Given the description of an element on the screen output the (x, y) to click on. 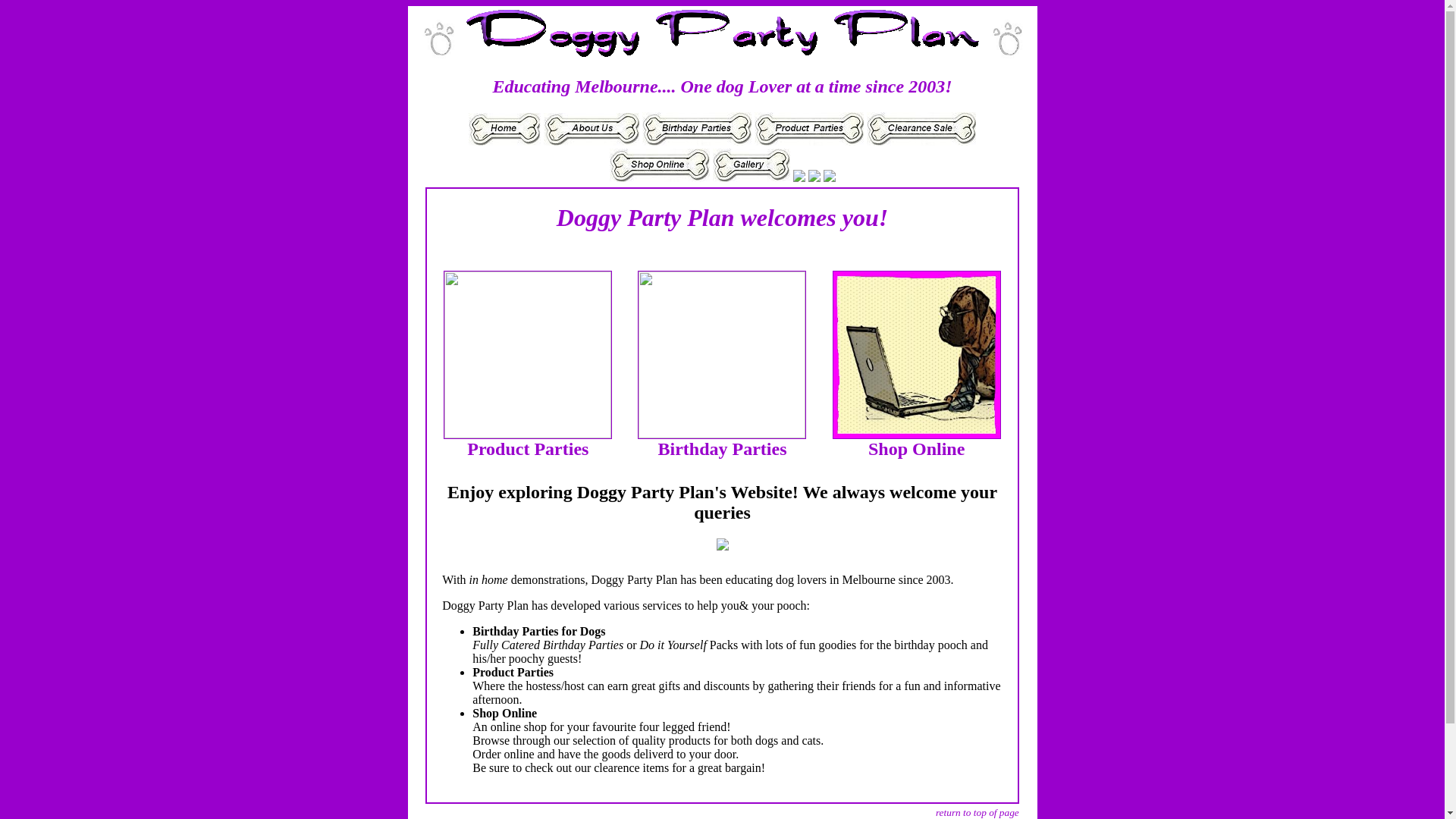
Shop Online Element type: text (916, 442)
Product Parties Element type: text (527, 442)
return to top of page Element type: text (977, 812)
Birthday Parties Element type: text (721, 442)
